Given the description of an element on the screen output the (x, y) to click on. 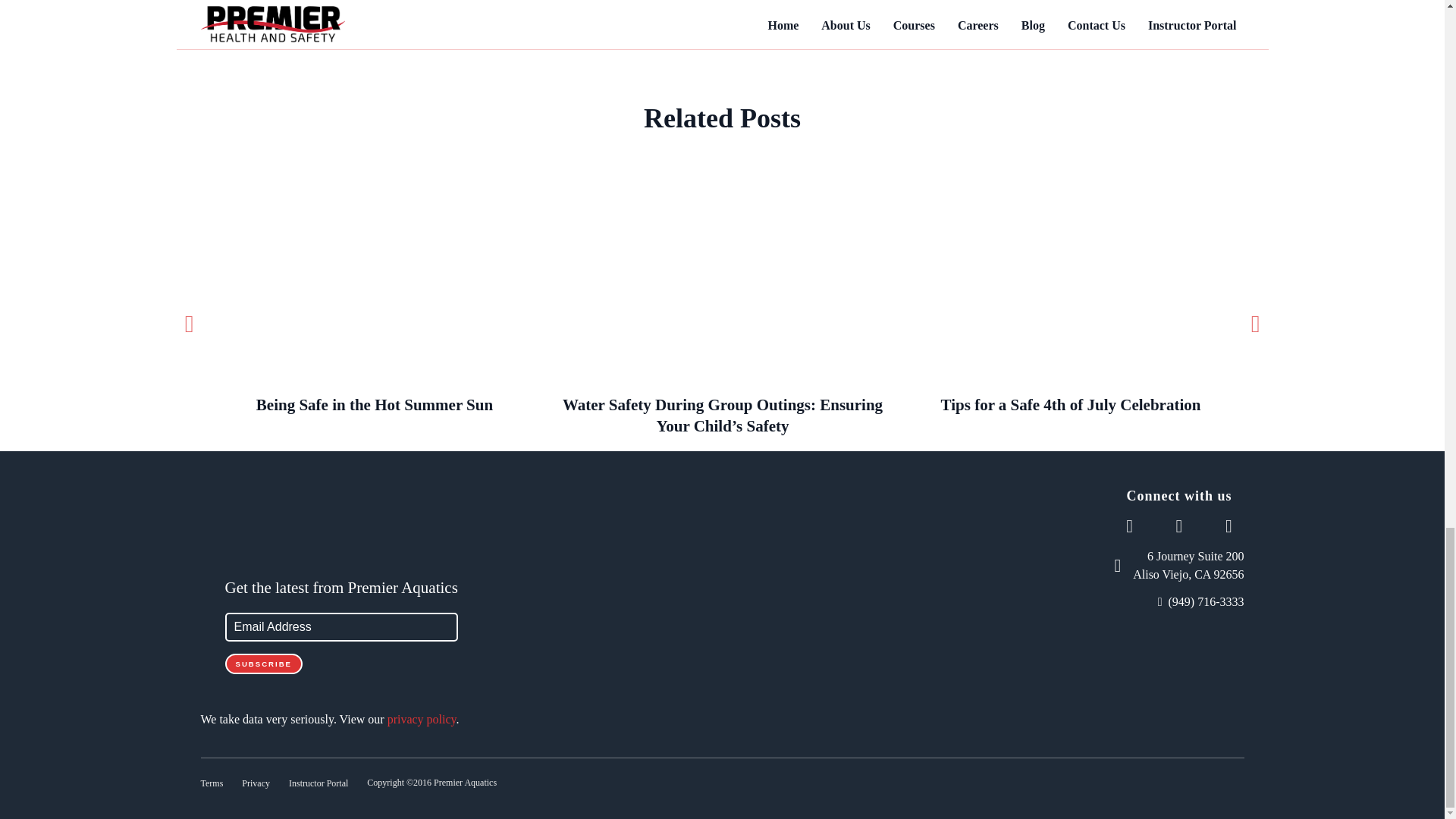
Being Safe in the Hot Summer Sun (373, 300)
Subscribe (263, 663)
Previous (189, 319)
Tips for a Safe 4th of July Celebration (1069, 300)
